Given the description of an element on the screen output the (x, y) to click on. 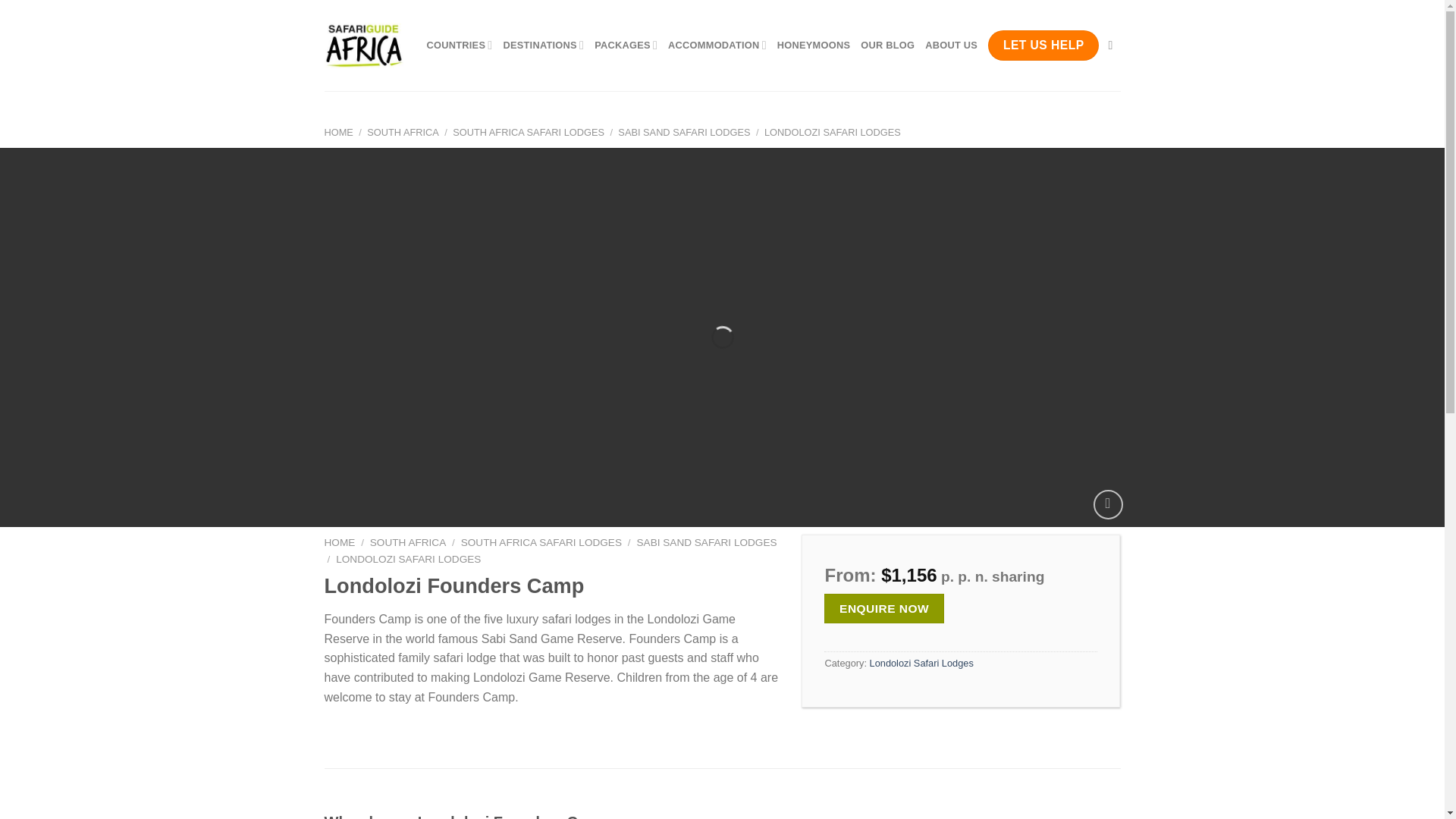
COUNTRIES (459, 45)
Safari Guide Africa - African Safari Specialists (364, 45)
DESTINATIONS (542, 45)
PACKAGES (626, 45)
Zoom (1107, 504)
